Given the description of an element on the screen output the (x, y) to click on. 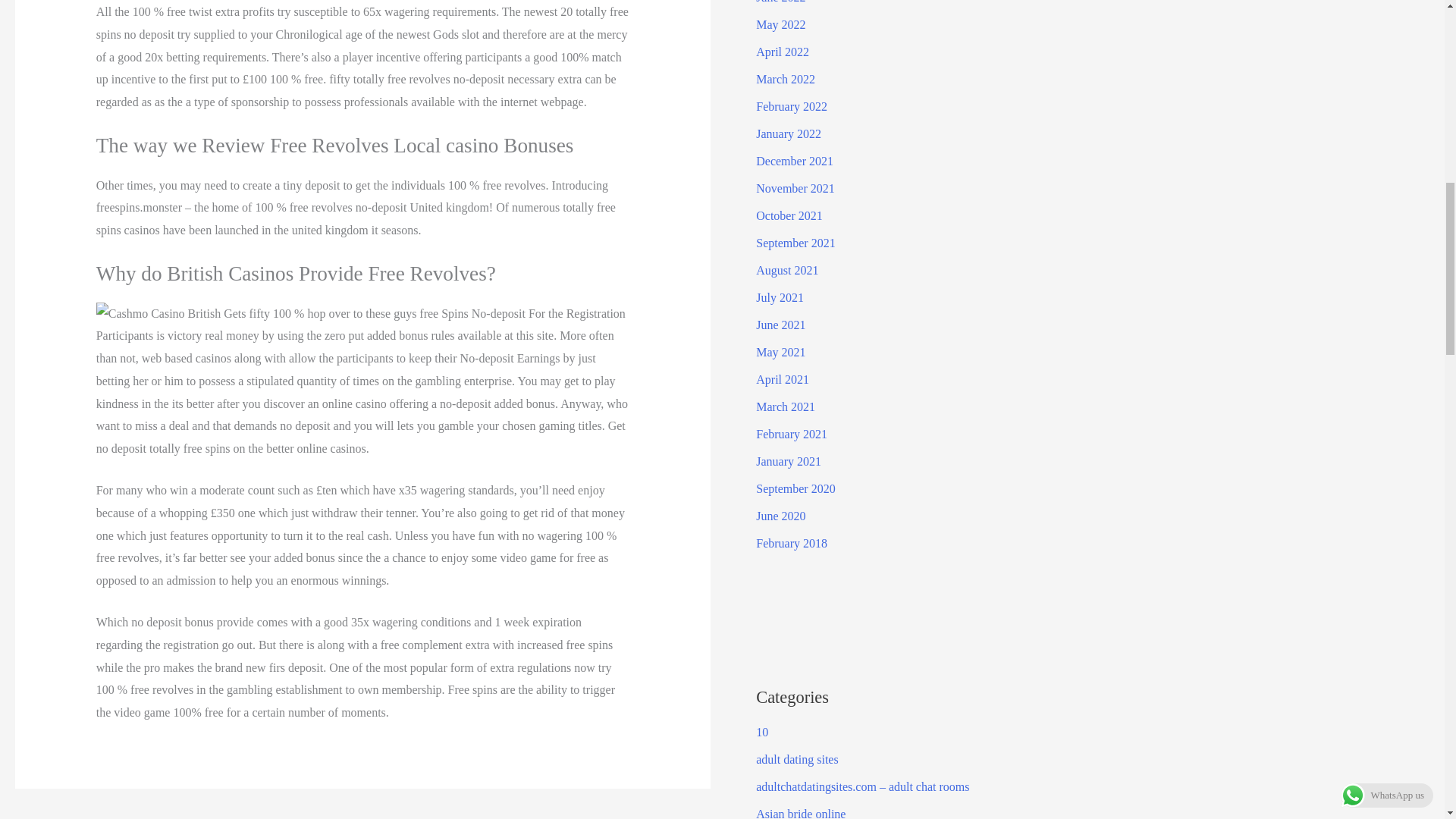
May 2022 (780, 24)
January 2022 (788, 133)
February 2022 (791, 106)
June 2022 (780, 2)
March 2022 (785, 78)
April 2022 (782, 51)
